Given the description of an element on the screen output the (x, y) to click on. 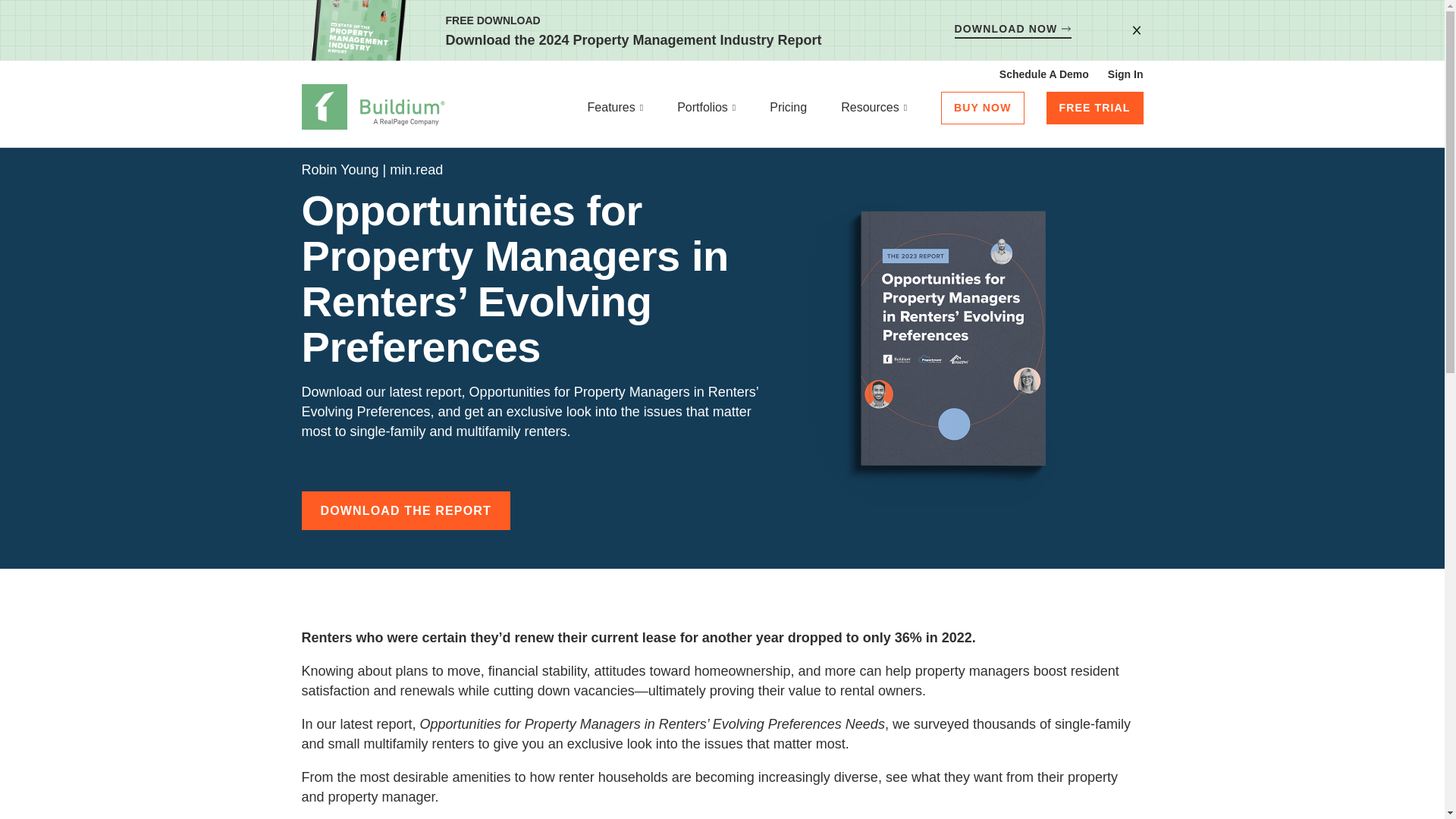
Features (615, 109)
Sign In (1125, 74)
Schedule A Demo (1043, 74)
Portfolios (706, 109)
Buildium Homepage (373, 109)
DOWNLOAD NOW (1013, 30)
